Given the description of an element on the screen output the (x, y) to click on. 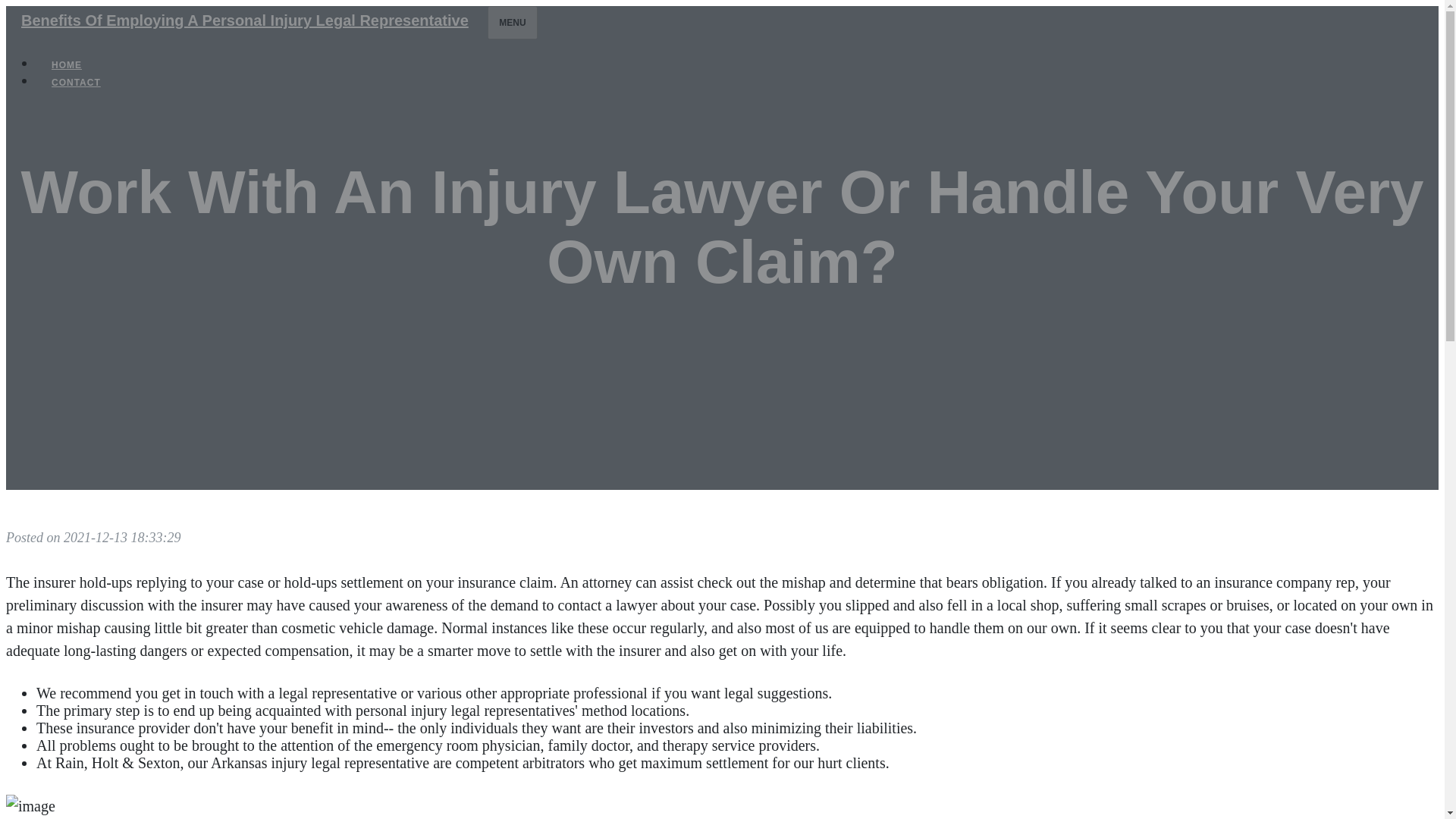
HOME (66, 64)
CONTACT (76, 82)
Benefits Of Employing A Personal Injury Legal Representative (244, 20)
MENU (512, 22)
